Given the description of an element on the screen output the (x, y) to click on. 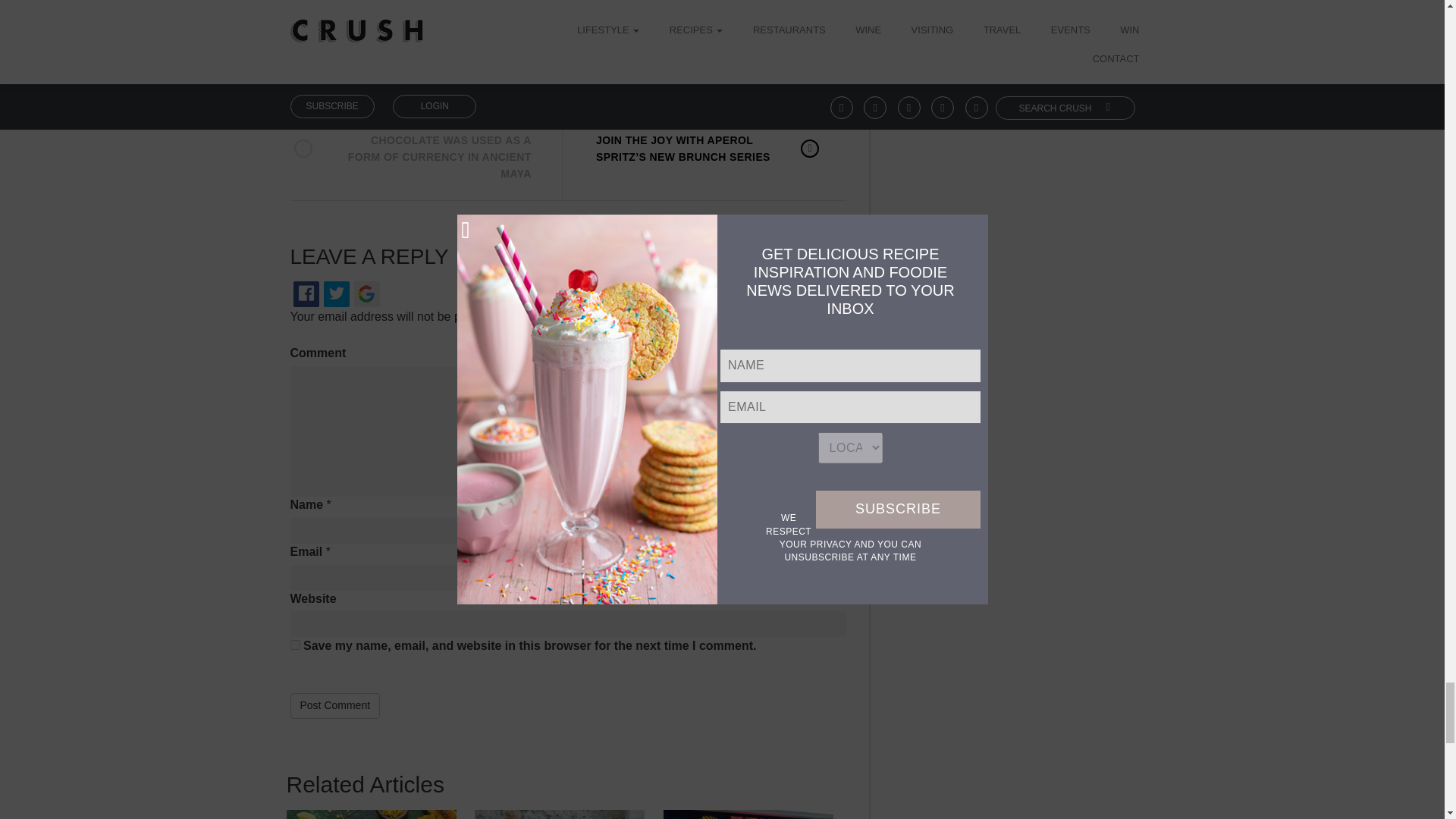
Post Comment (334, 705)
yes (294, 644)
Login with Social Networks (567, 302)
